Given the description of an element on the screen output the (x, y) to click on. 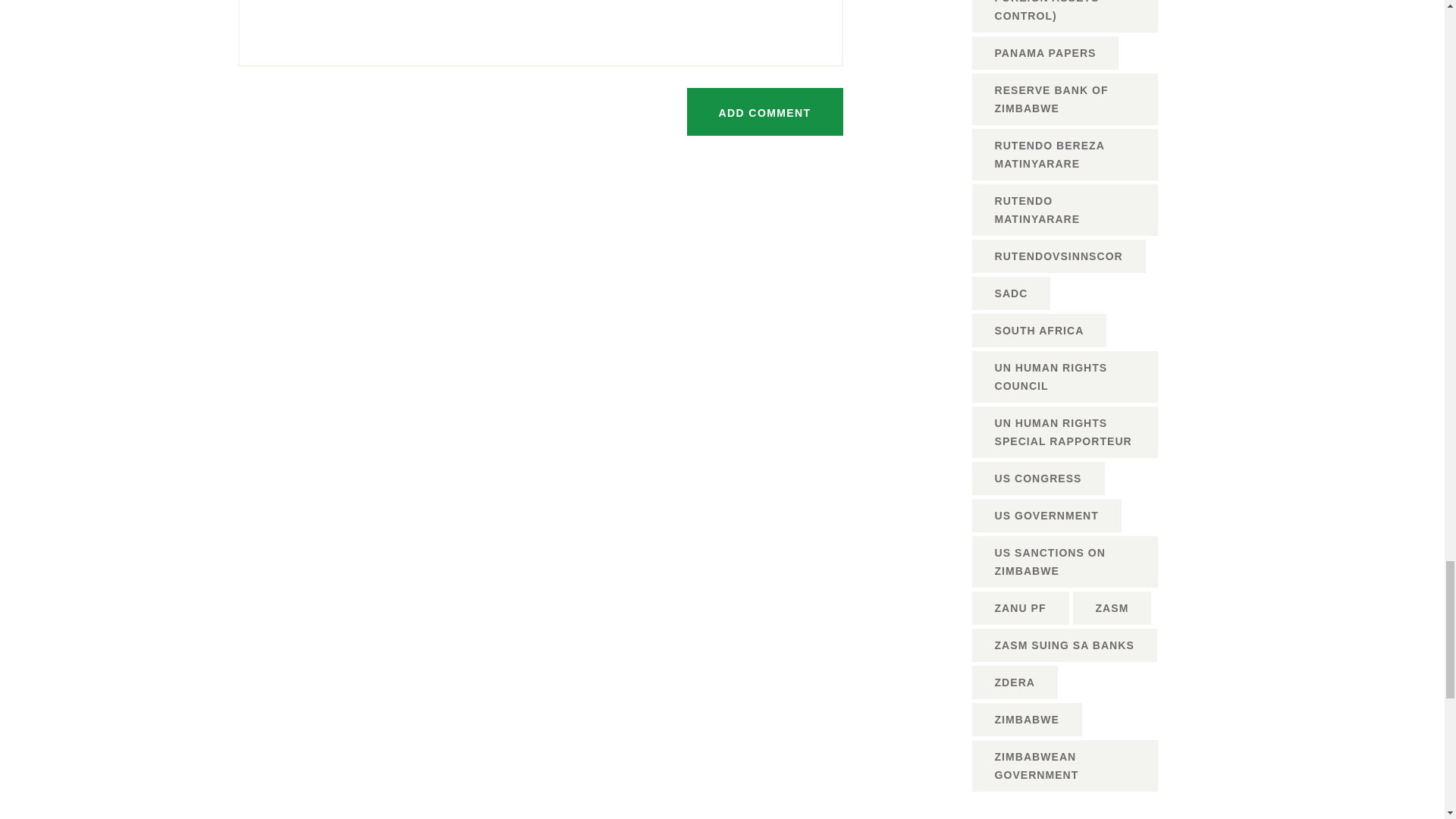
Add Comment (765, 111)
